Given the description of an element on the screen output the (x, y) to click on. 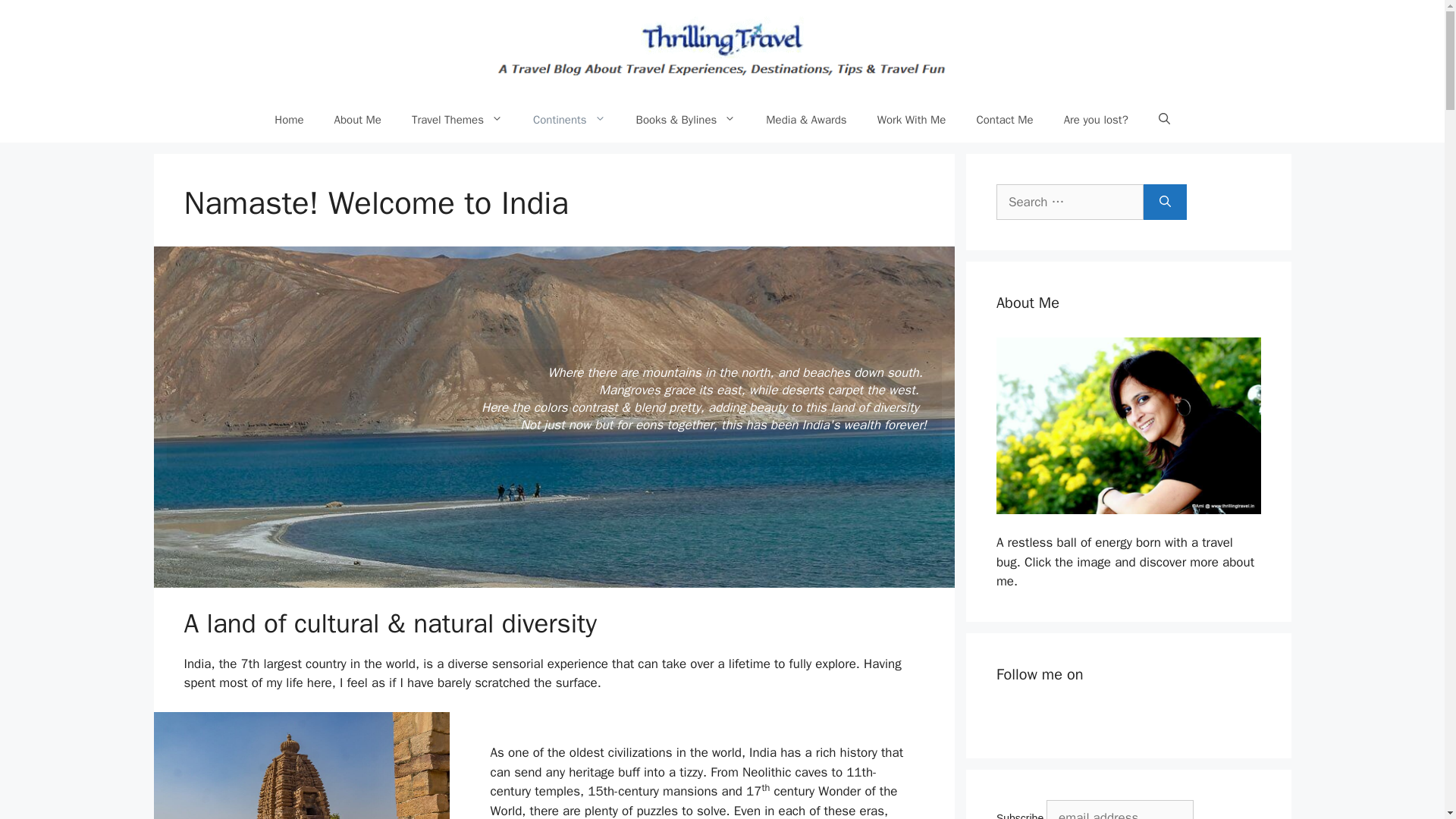
Search for: (1068, 202)
